Given the description of an element on the screen output the (x, y) to click on. 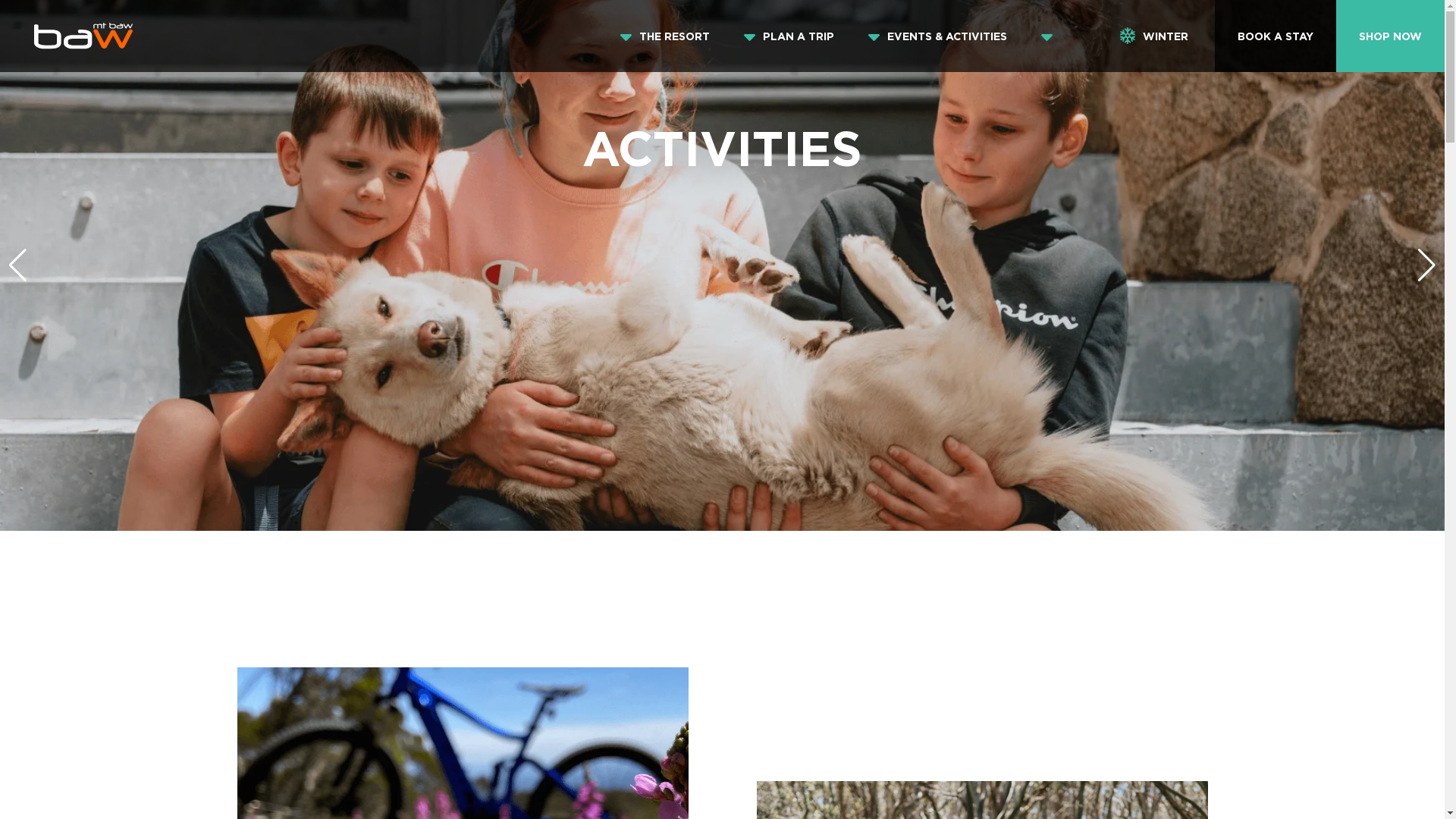
WINTER Element type: text (1153, 36)
BOOK A STAY Element type: text (1275, 36)
PLAN A TRIP Element type: text (798, 35)
EVENTS & ACTIVITIES Element type: text (946, 35)
SHOP NOW Element type: text (1390, 36)
THE RESORT Element type: text (674, 35)
